Given the description of an element on the screen output the (x, y) to click on. 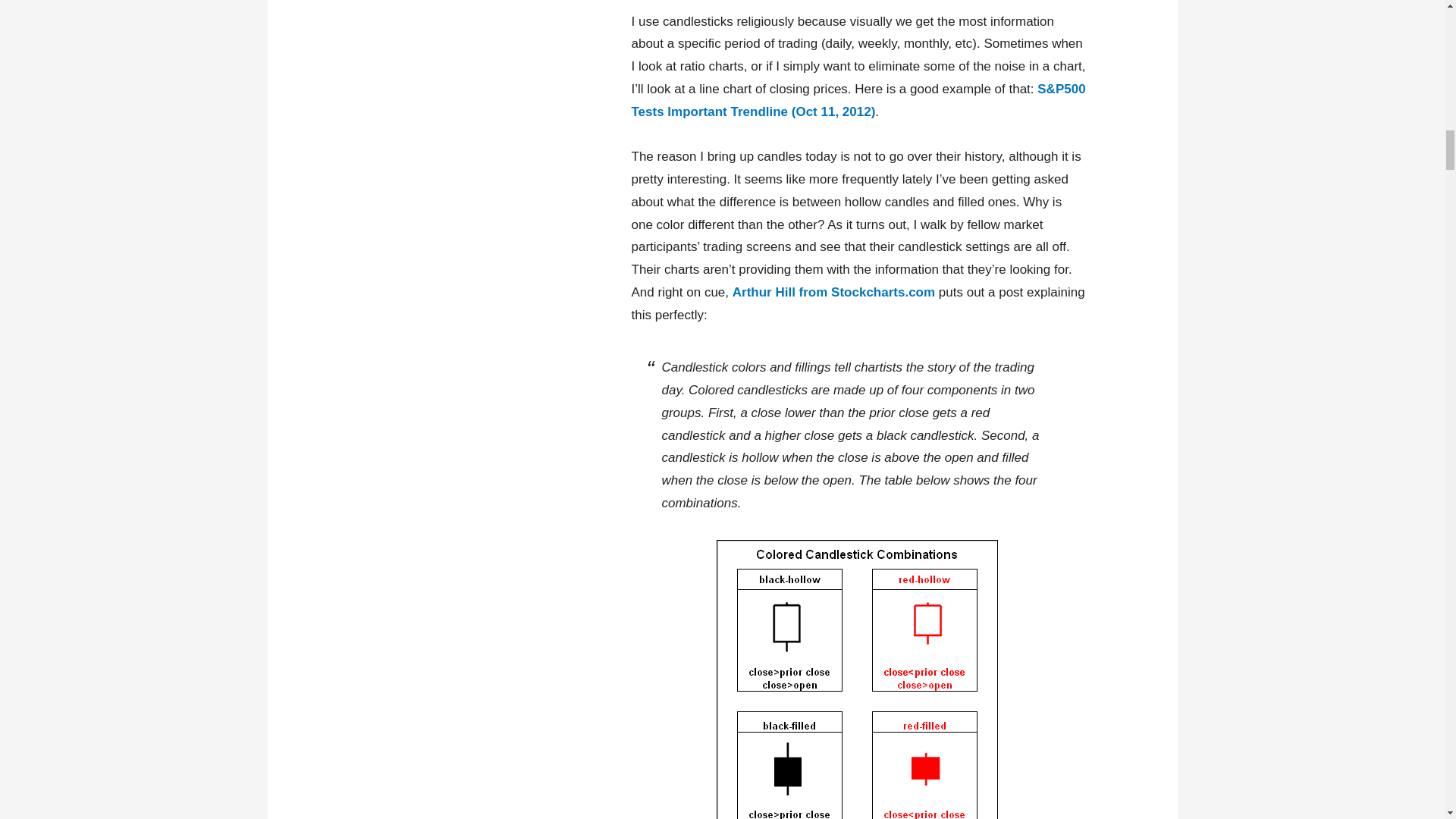
11-24-12 candles (858, 678)
